Given the description of an element on the screen output the (x, y) to click on. 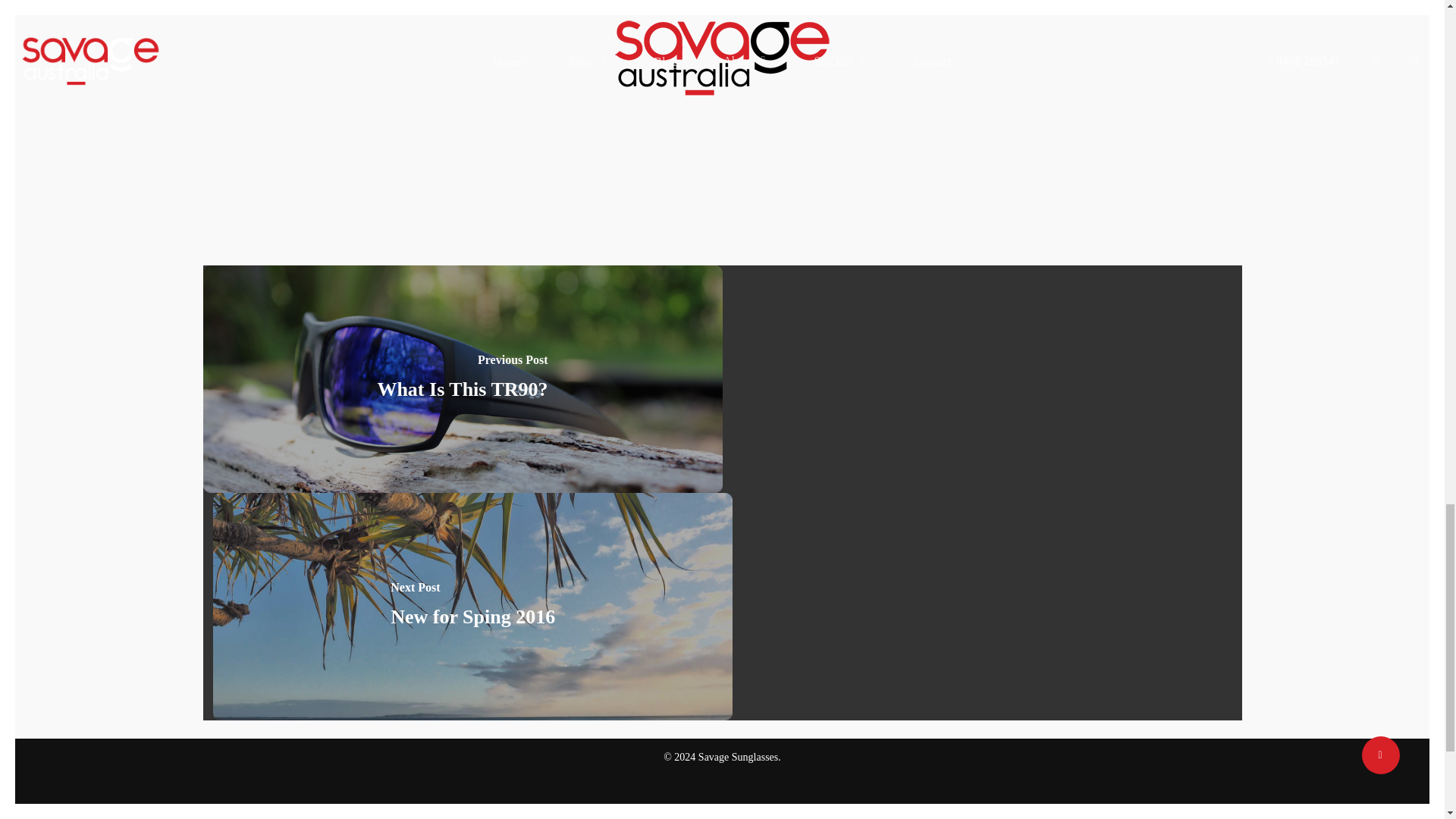
Savage Sunglasses (721, 58)
